Given the description of an element on the screen output the (x, y) to click on. 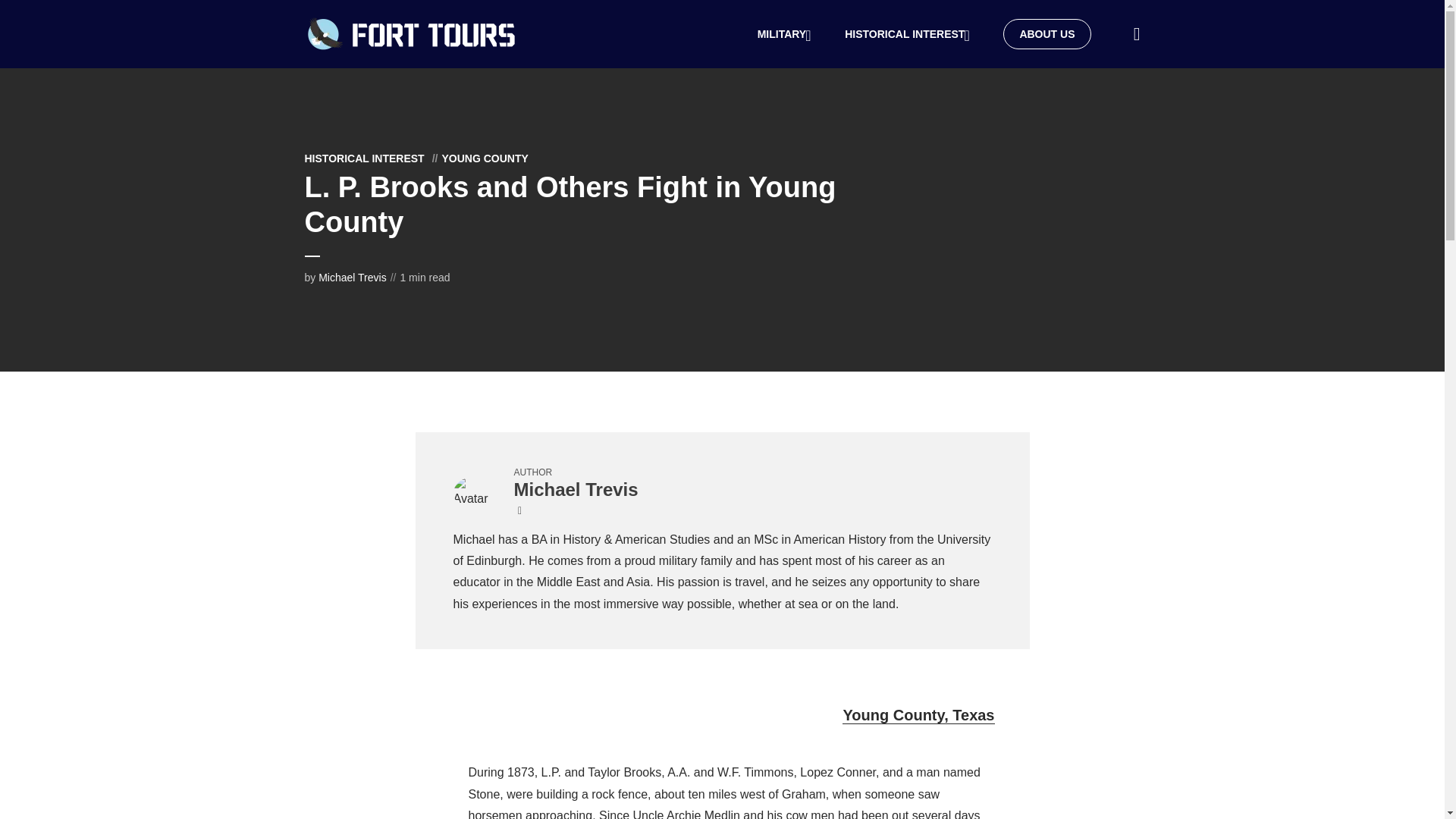
HISTORICAL INTEREST (908, 34)
MILITARY (786, 34)
ABOUT US (1046, 33)
